Given the description of an element on the screen output the (x, y) to click on. 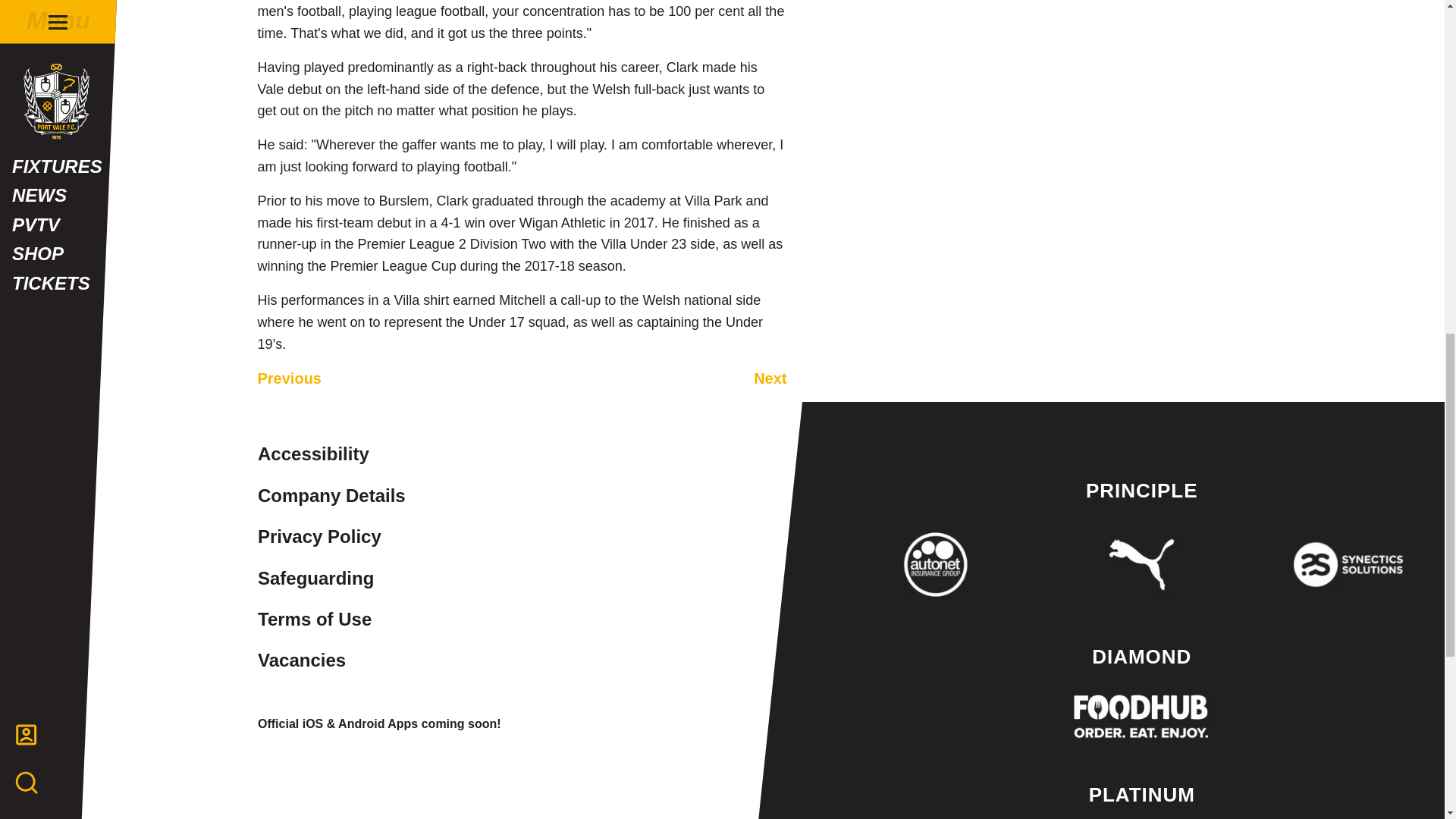
Autonet (936, 563)
Synectics (1348, 563)
Puma (1141, 563)
Foodhub (1141, 716)
